Given the description of an element on the screen output the (x, y) to click on. 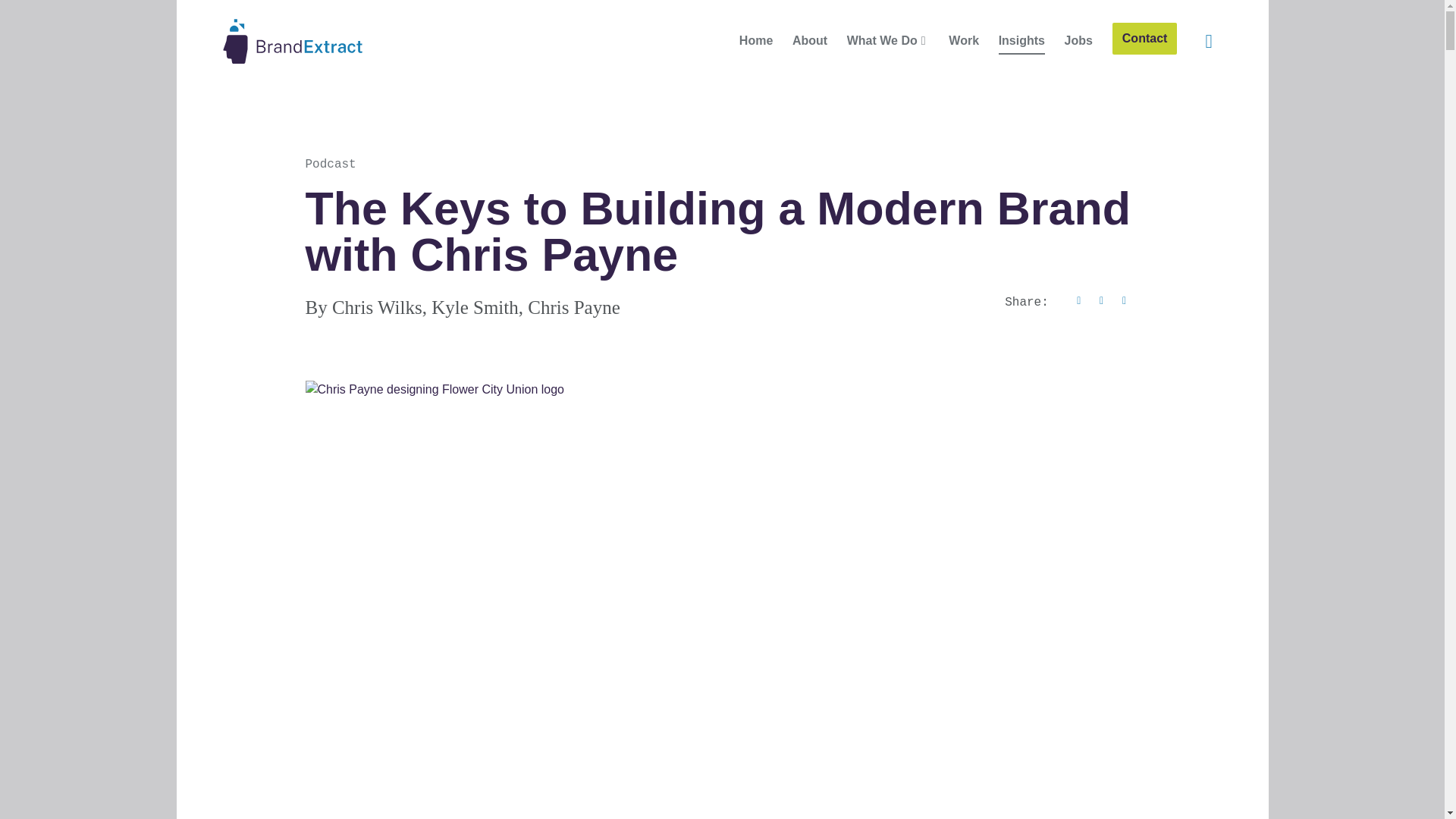
LinkedIn (1124, 300)
Search (1208, 40)
What We Do (882, 40)
Home (756, 40)
Work (963, 40)
Twitter (1101, 300)
Insights (1021, 40)
Contact (1144, 38)
Facebook (1078, 300)
About (809, 40)
